Given the description of an element on the screen output the (x, y) to click on. 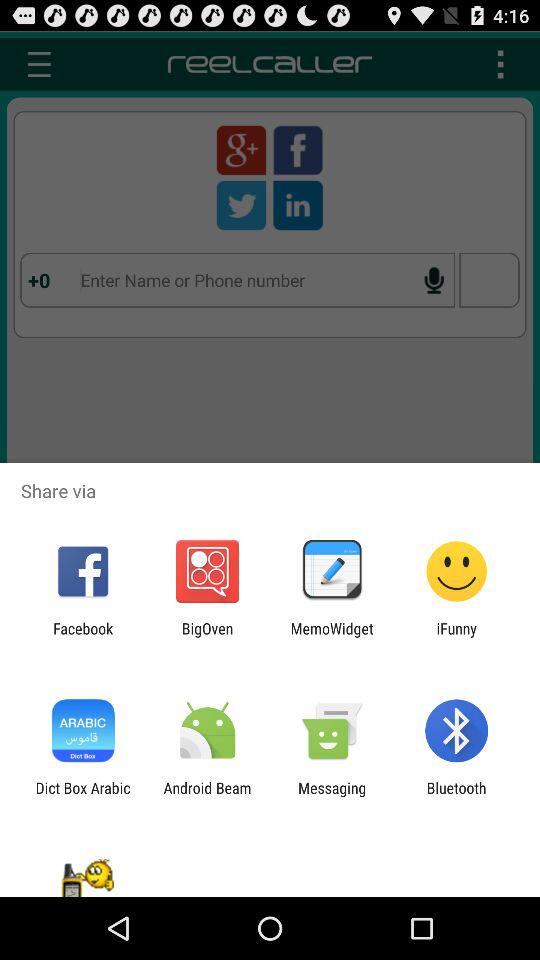
press icon next to messaging app (207, 796)
